Given the description of an element on the screen output the (x, y) to click on. 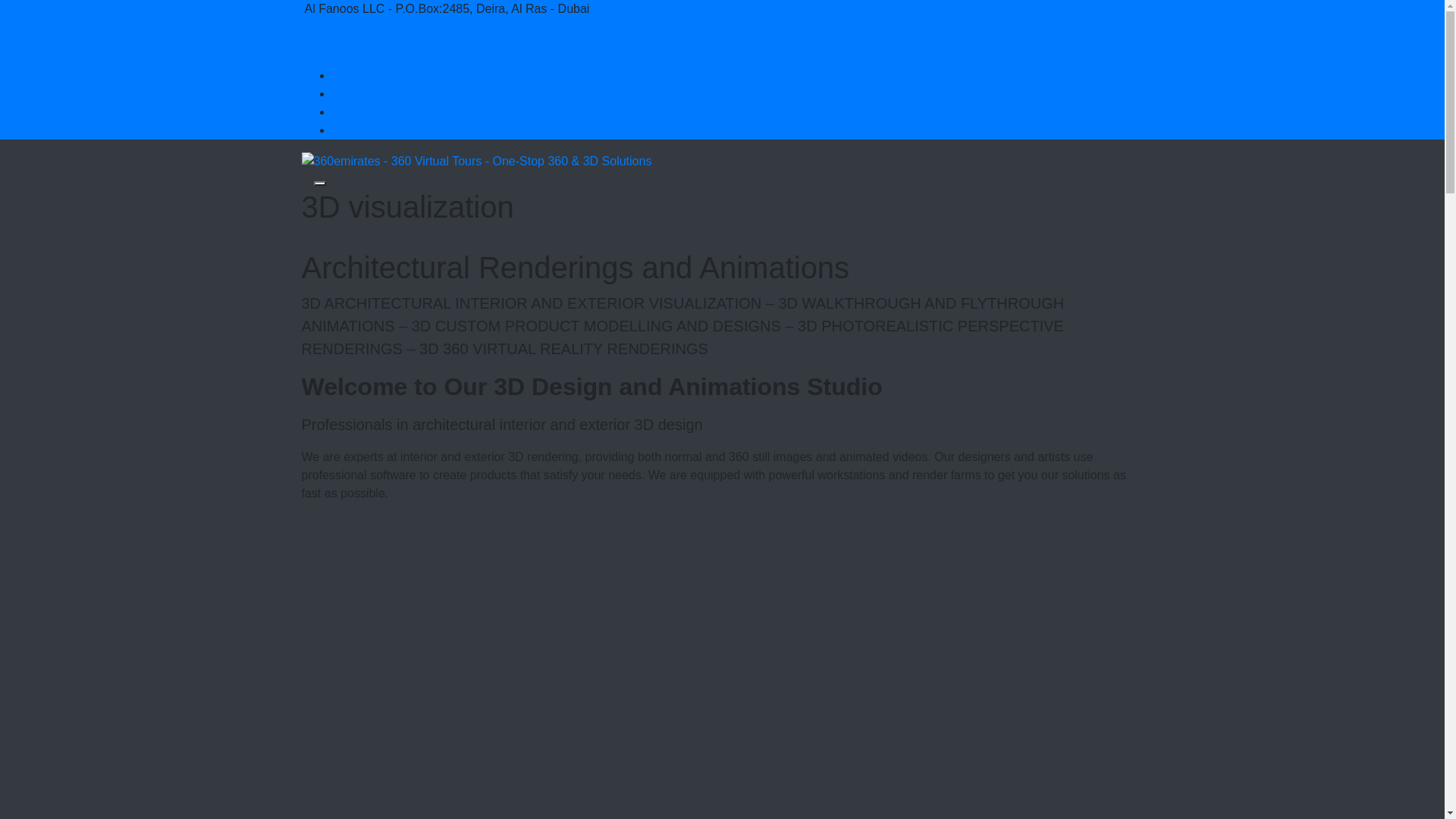
Contact Us Element type: text (343, 51)
+971 (50) 105 9460 Element type: text (376, 27)
